Given the description of an element on the screen output the (x, y) to click on. 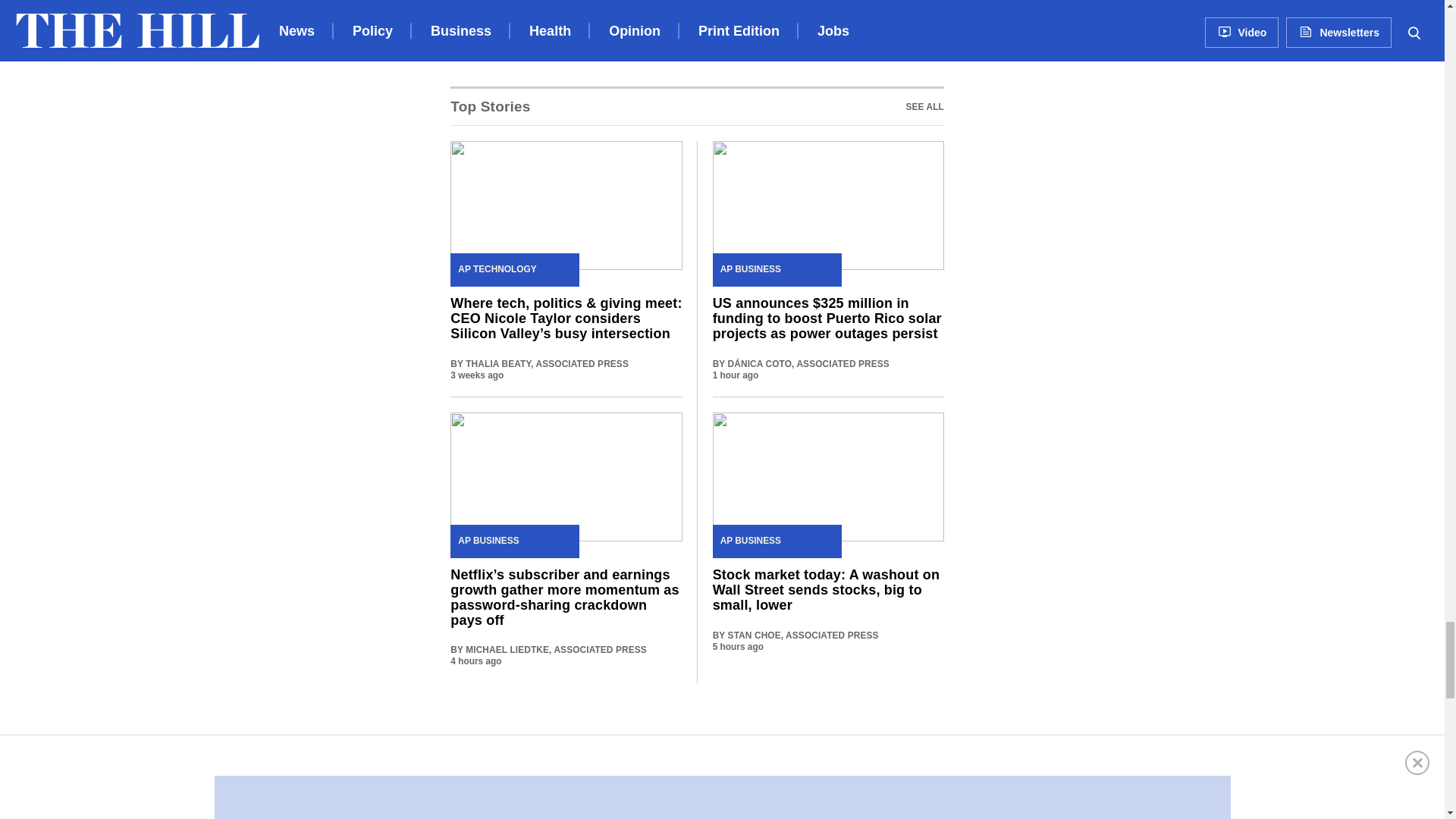
SEE ALL (696, 106)
SEE ALL (924, 106)
Top Stories (924, 106)
